Given the description of an element on the screen output the (x, y) to click on. 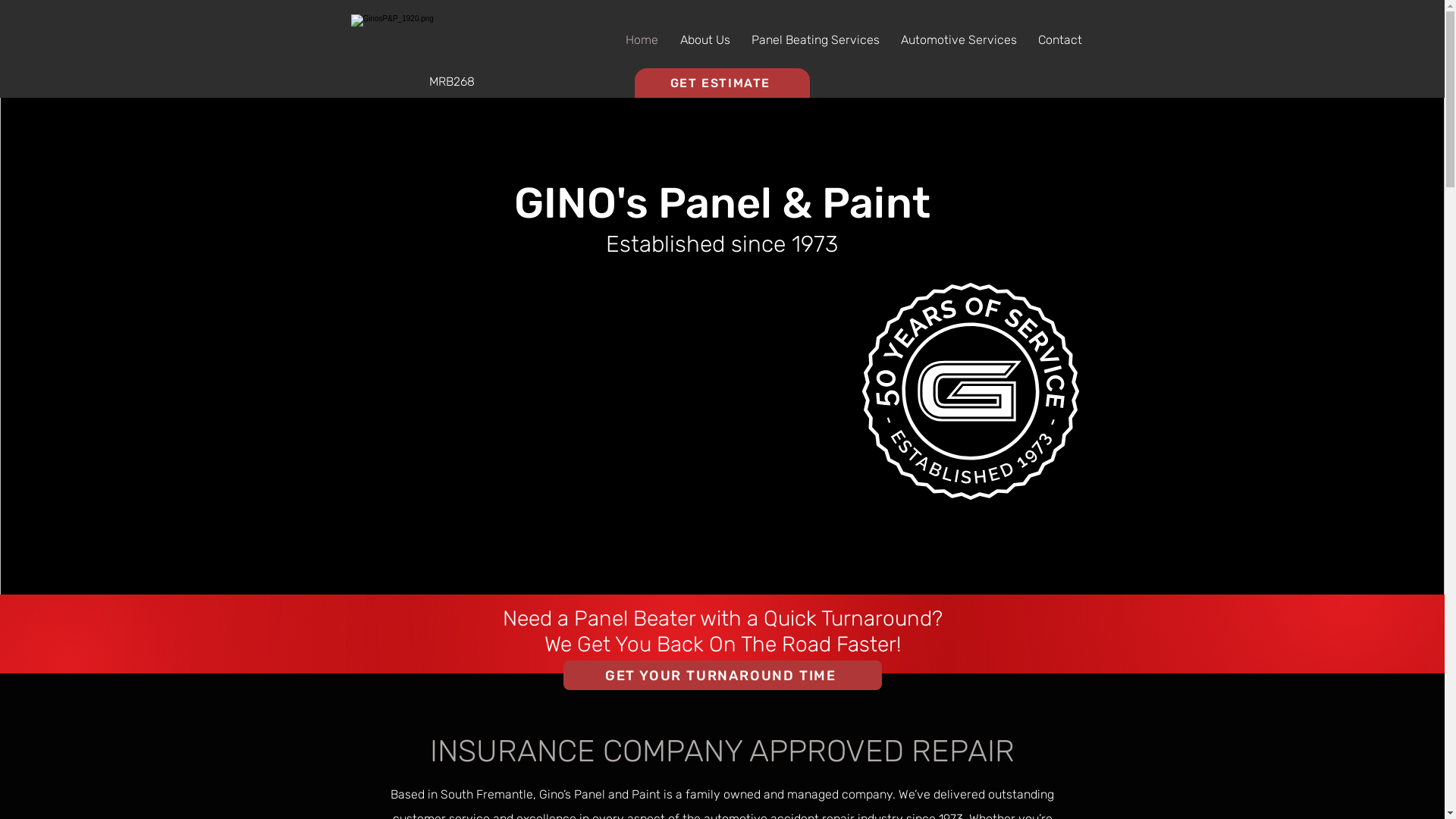
Automotive Services Element type: text (958, 40)
GET ESTIMATE Element type: text (721, 82)
GET YOUR TURNAROUND TIME Element type: text (721, 675)
Home Element type: text (641, 40)
About Us Element type: text (704, 40)
Contact Element type: text (1059, 40)
